Given the description of an element on the screen output the (x, y) to click on. 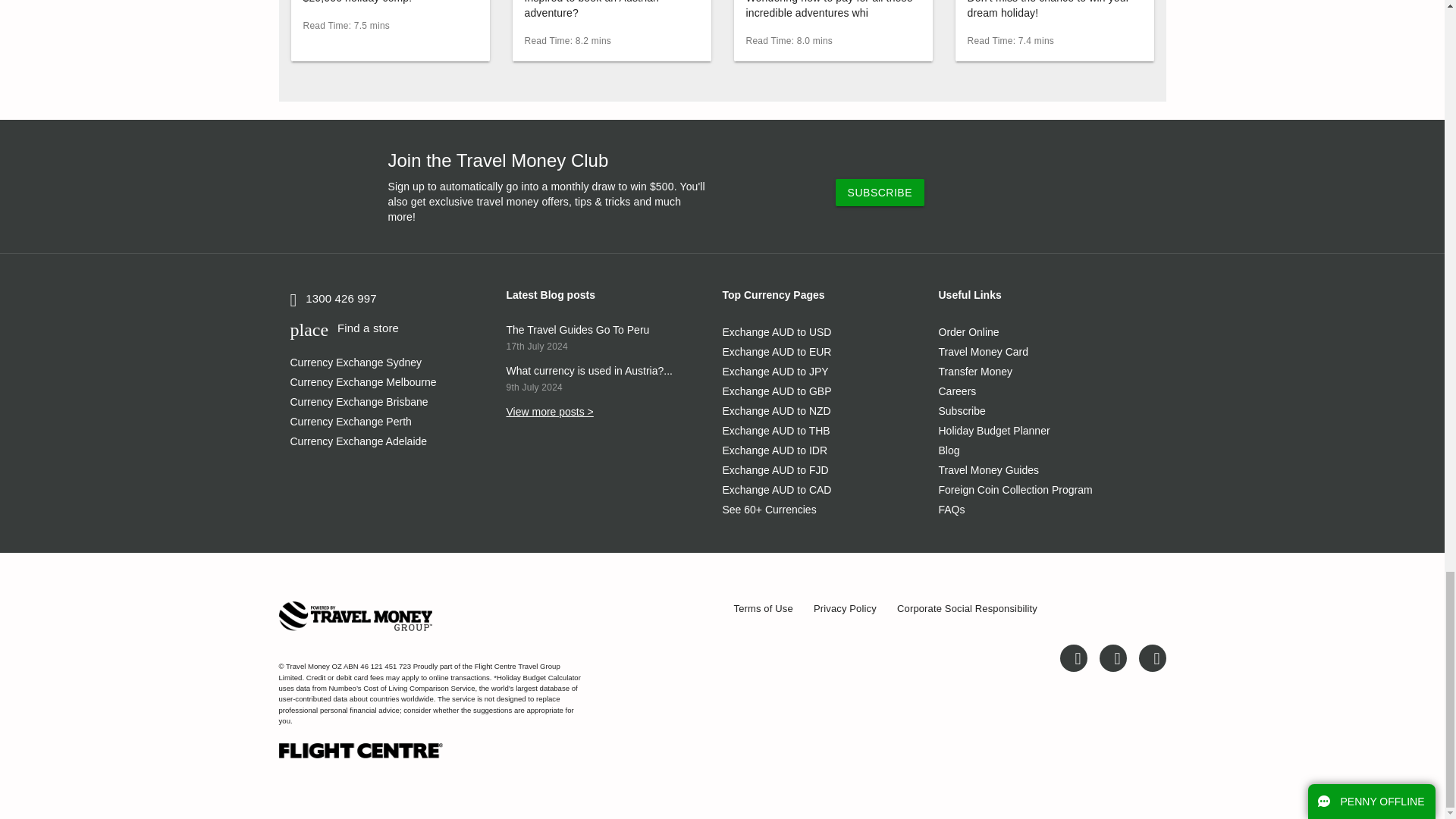
facebook (1112, 657)
instagram (1149, 657)
googleplus (1073, 657)
